Given the description of an element on the screen output the (x, y) to click on. 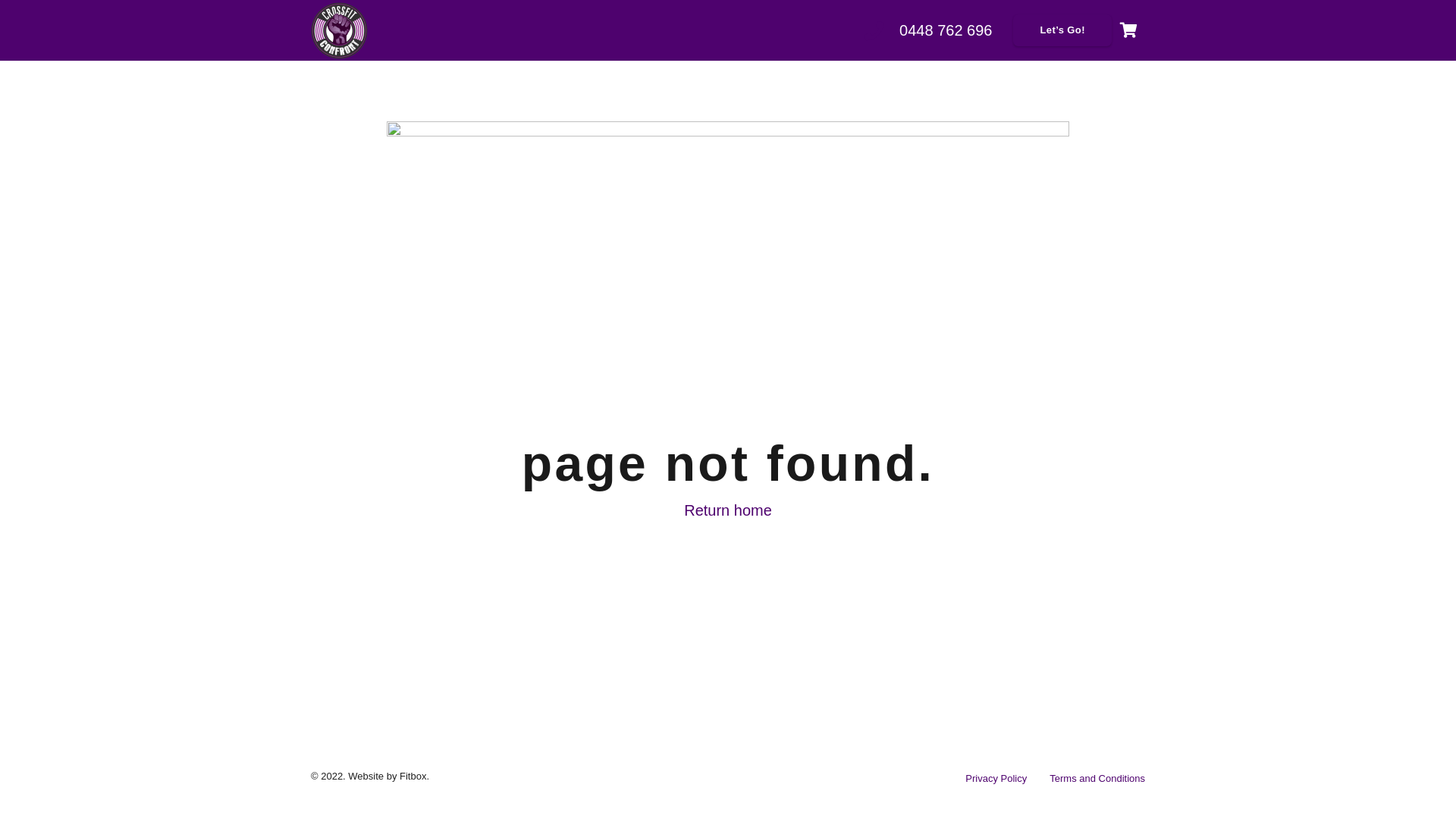
Privacy Policy Element type: text (995, 778)
Terms and Conditions Element type: text (1097, 778)
0 Element type: text (1128, 30)
Return home Element type: text (727, 510)
0448 762 696 Element type: text (945, 29)
